Given the description of an element on the screen output the (x, y) to click on. 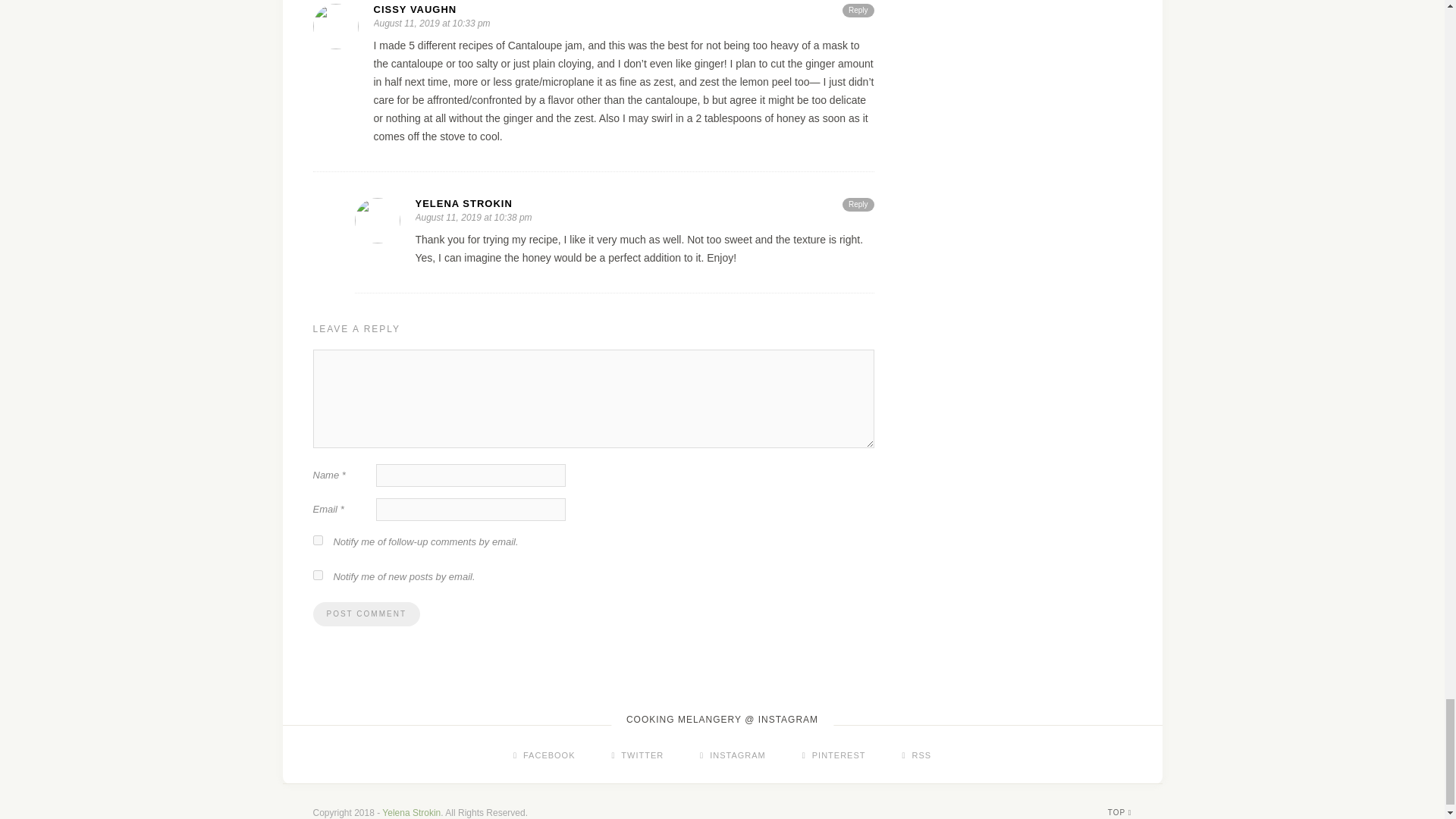
Post Comment (366, 613)
subscribe (317, 574)
subscribe (317, 540)
